Given the description of an element on the screen output the (x, y) to click on. 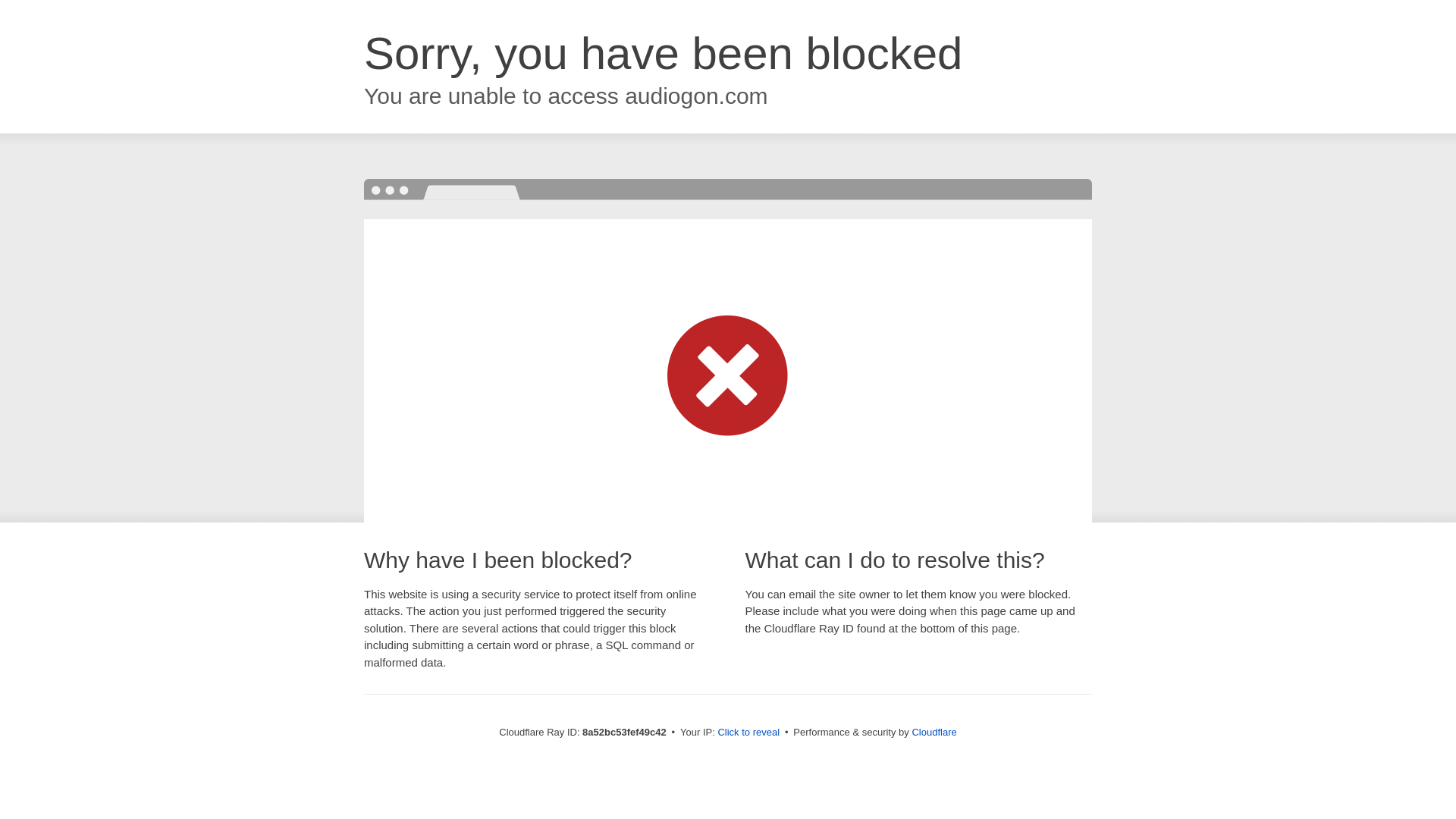
Click to reveal (747, 732)
Cloudflare (933, 731)
